Given the description of an element on the screen output the (x, y) to click on. 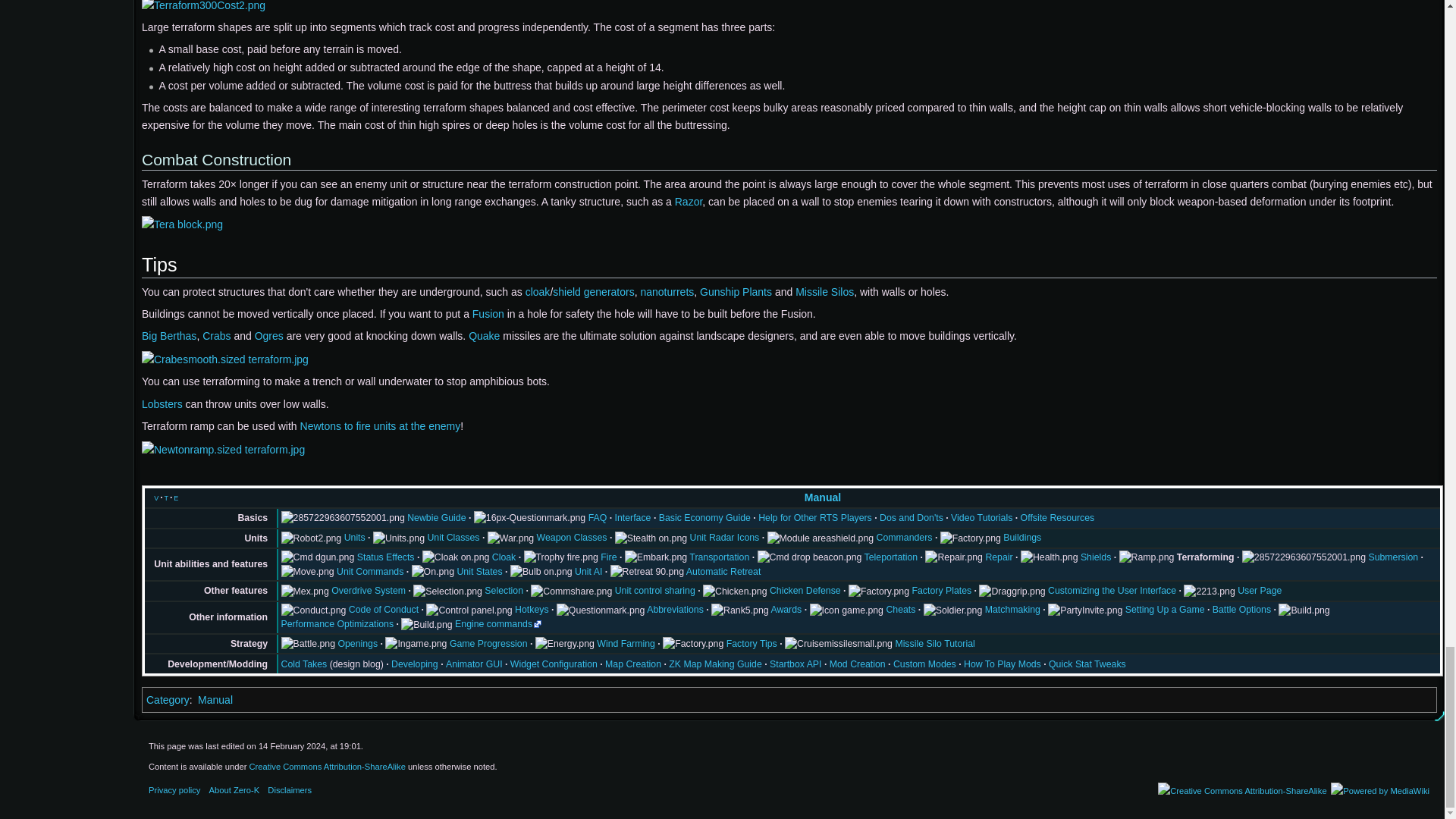
Razor (689, 201)
Cornea (537, 291)
